Given the description of an element on the screen output the (x, y) to click on. 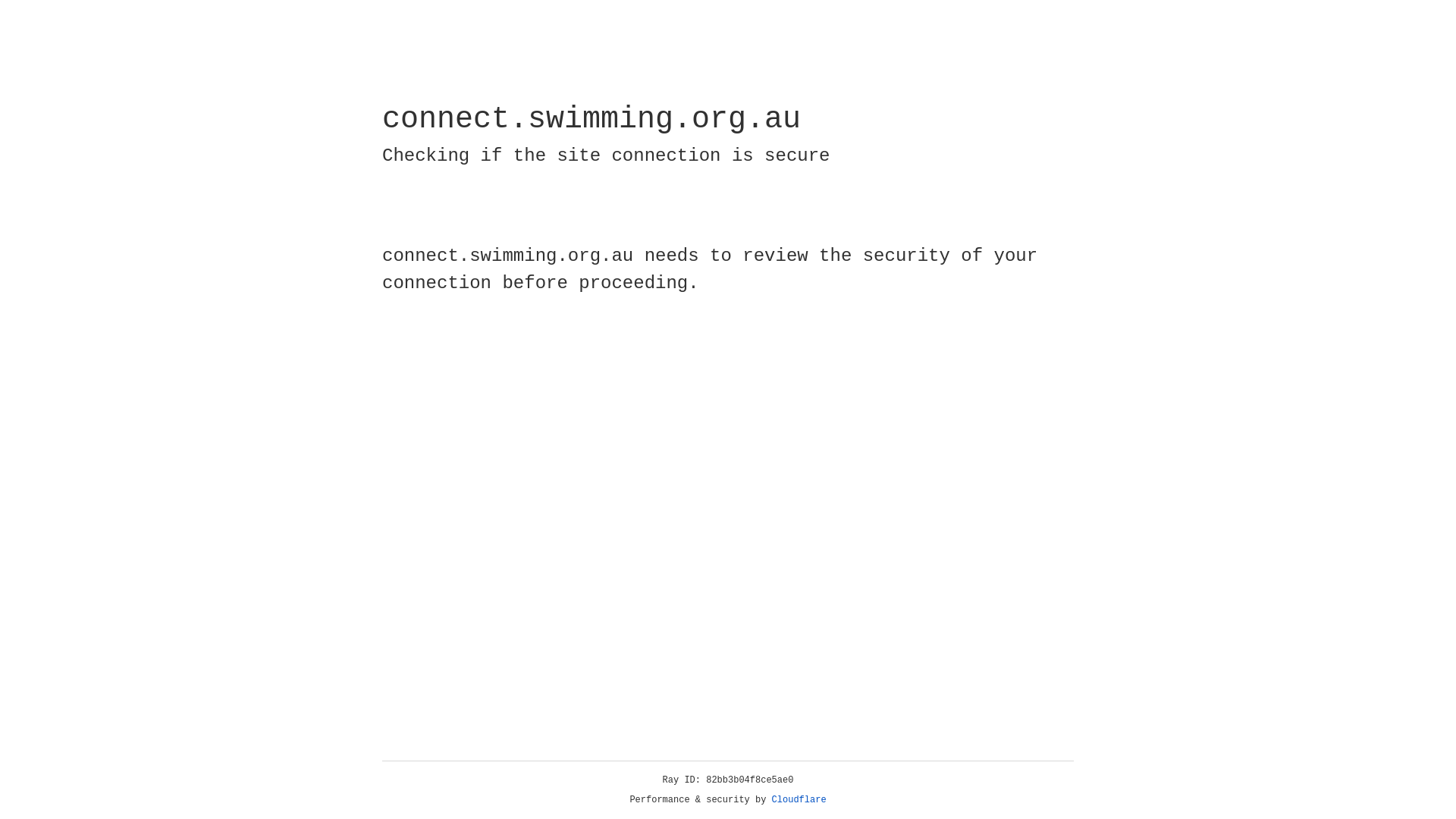
Cloudflare Element type: text (798, 799)
